Given the description of an element on the screen output the (x, y) to click on. 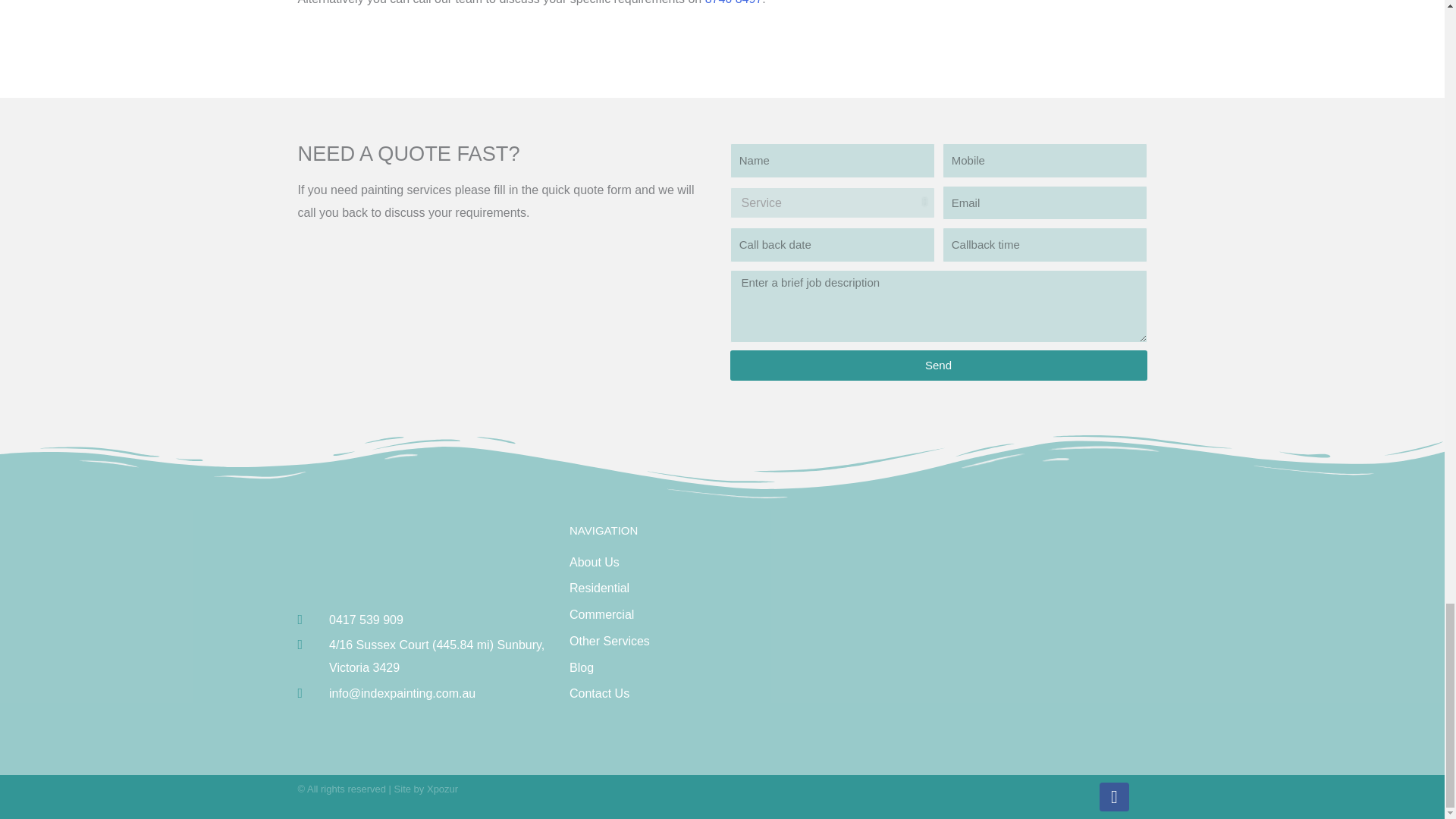
Xpozur (442, 788)
8746 8497 (733, 2)
Send (938, 365)
